Given the description of an element on the screen output the (x, y) to click on. 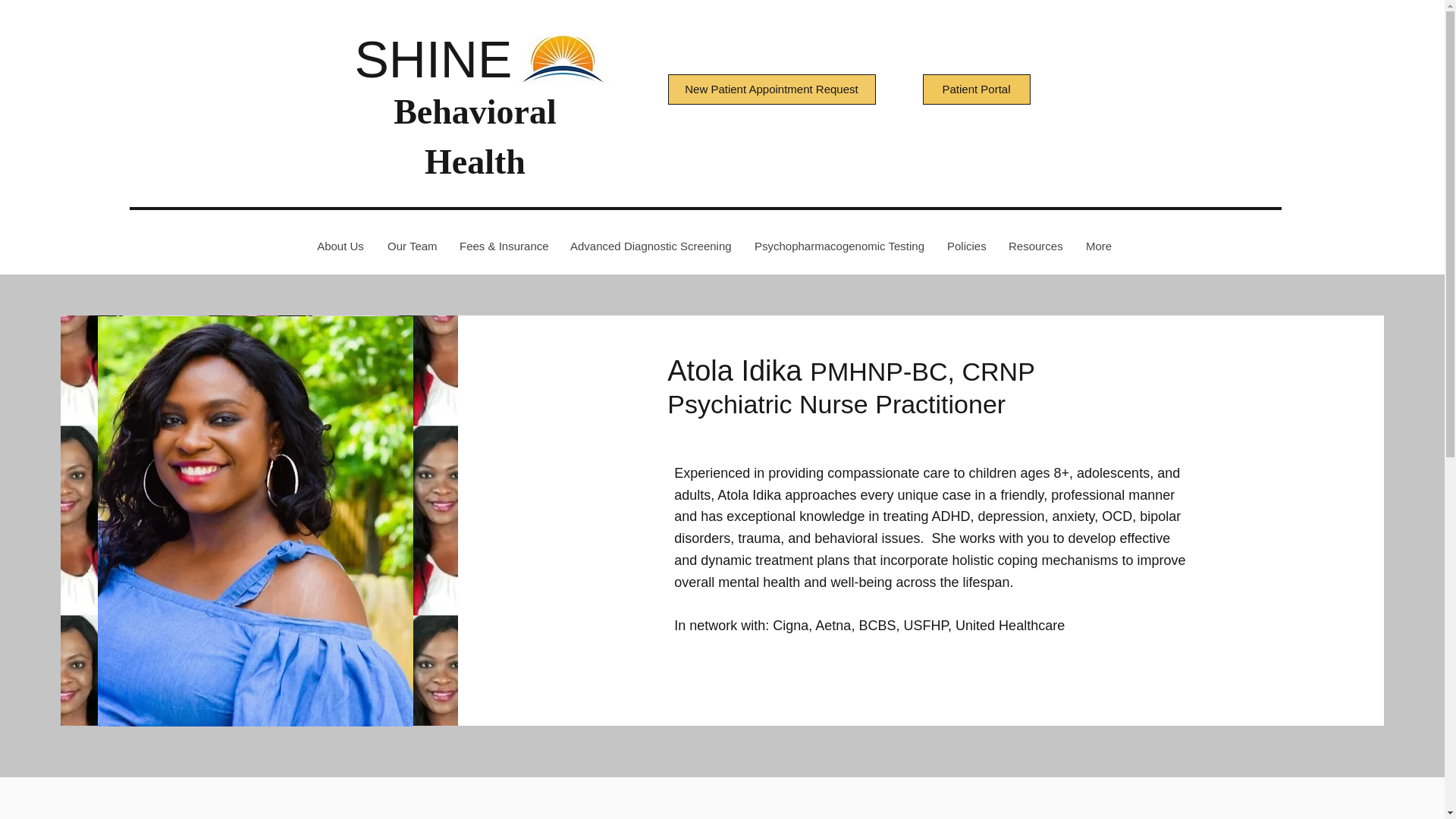
Policies (964, 246)
Patient Portal (975, 89)
New Patient Appointment Request (770, 89)
Advanced Diagnostic Screening (649, 246)
Resources (1034, 246)
Behavioral Health (474, 136)
Psychopharmacogenomic Testing (838, 246)
About Us (339, 246)
Our Team (410, 246)
